Given the description of an element on the screen output the (x, y) to click on. 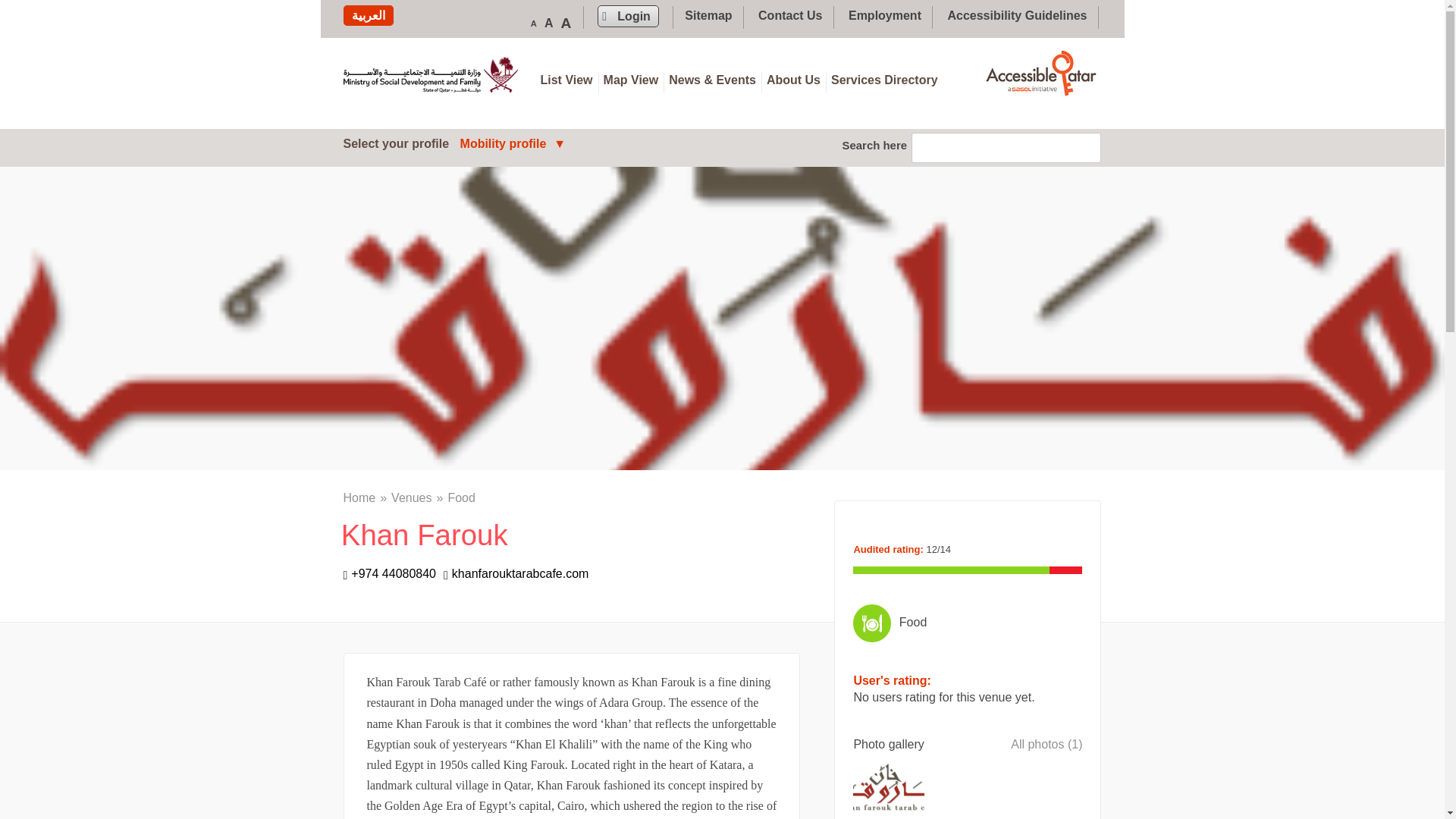
Food (460, 497)
List View (568, 80)
Login (628, 15)
Employment (884, 15)
About Us (793, 80)
Show venues on a Map View (630, 80)
Show a list of News and events (712, 80)
Home (366, 497)
Short brief About Us (793, 80)
A list of Accessibility Services (884, 80)
Sitemap (708, 15)
Food (967, 622)
khanfarouktarabcafe.com (516, 573)
Venues (418, 497)
submit (34, 15)
